Given the description of an element on the screen output the (x, y) to click on. 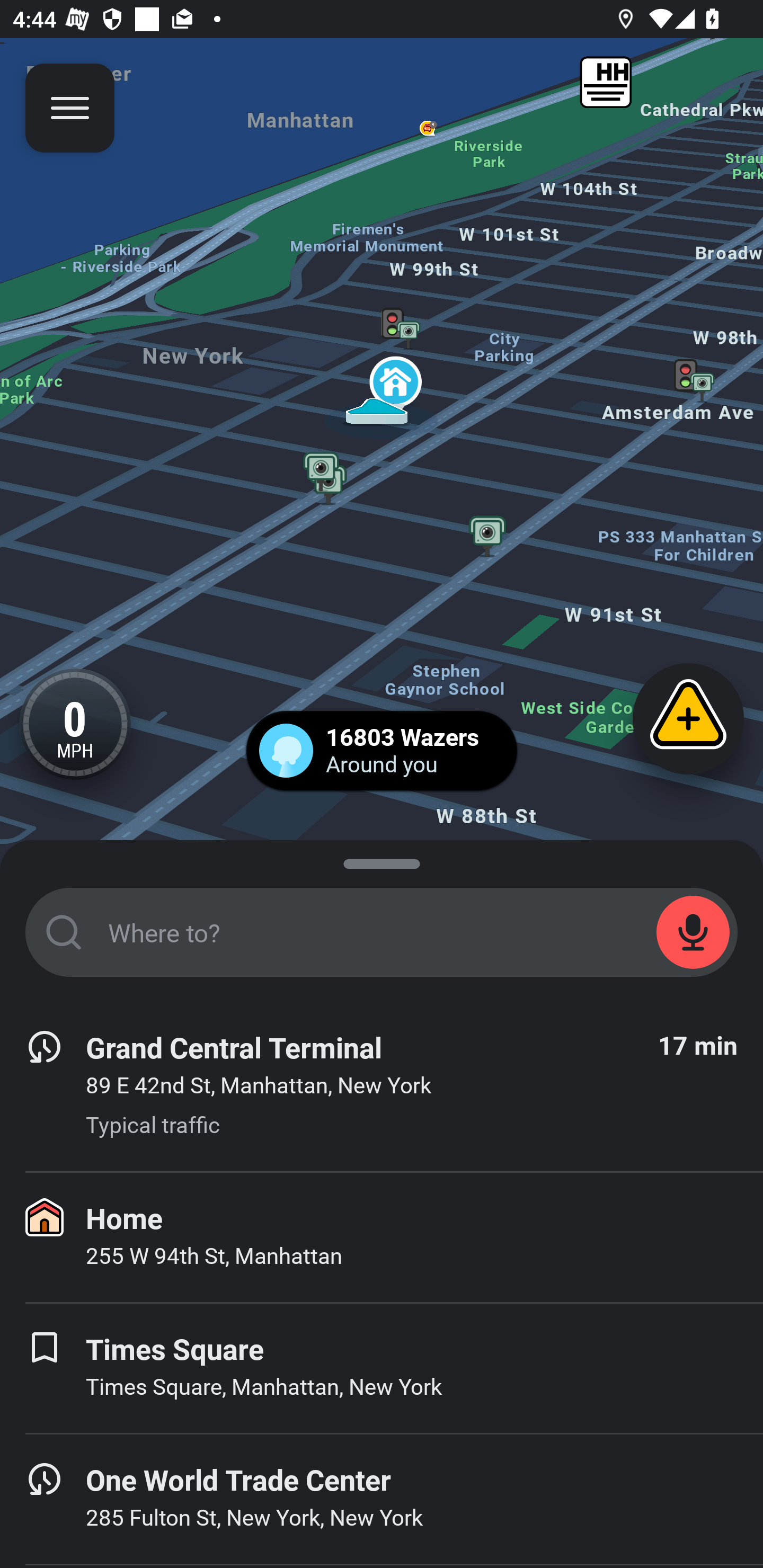
SUGGESTIONS_SHEET_DRAG_HANDLE (381, 860)
START_STATE_SEARCH_FIELD Where to? (381, 931)
Home 255 W 94th St, Manhattan (381, 1236)
Times Square Times Square, Manhattan, New York (381, 1368)
